Given the description of an element on the screen output the (x, y) to click on. 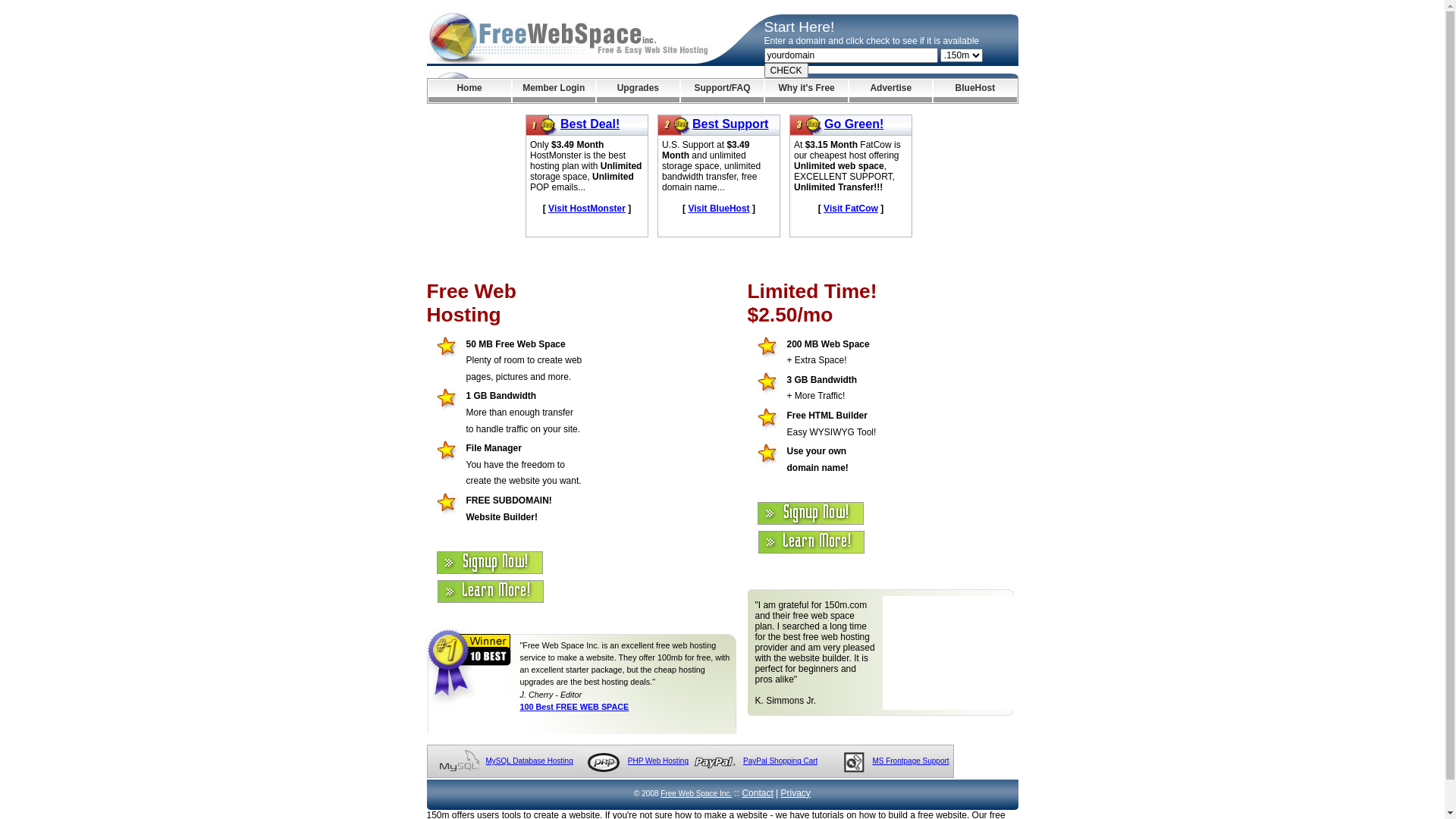
Member Login Element type: text (553, 90)
MS Frontpage Support Element type: text (910, 760)
Free Web Space Inc. Element type: text (695, 793)
CHECK Element type: text (786, 70)
Privacy Element type: text (795, 792)
BlueHost Element type: text (974, 90)
PayPal Shopping Cart Element type: text (780, 760)
Support/FAQ Element type: text (721, 90)
100 Best FREE WEB SPACE Element type: text (574, 706)
PHP Web Hosting Element type: text (657, 760)
Contact Element type: text (756, 792)
Home Element type: text (468, 90)
Upgrades Element type: text (637, 90)
MySQL Database Hosting Element type: text (528, 760)
Why it's Free Element type: text (806, 90)
Advertise Element type: text (890, 90)
